Given the description of an element on the screen output the (x, y) to click on. 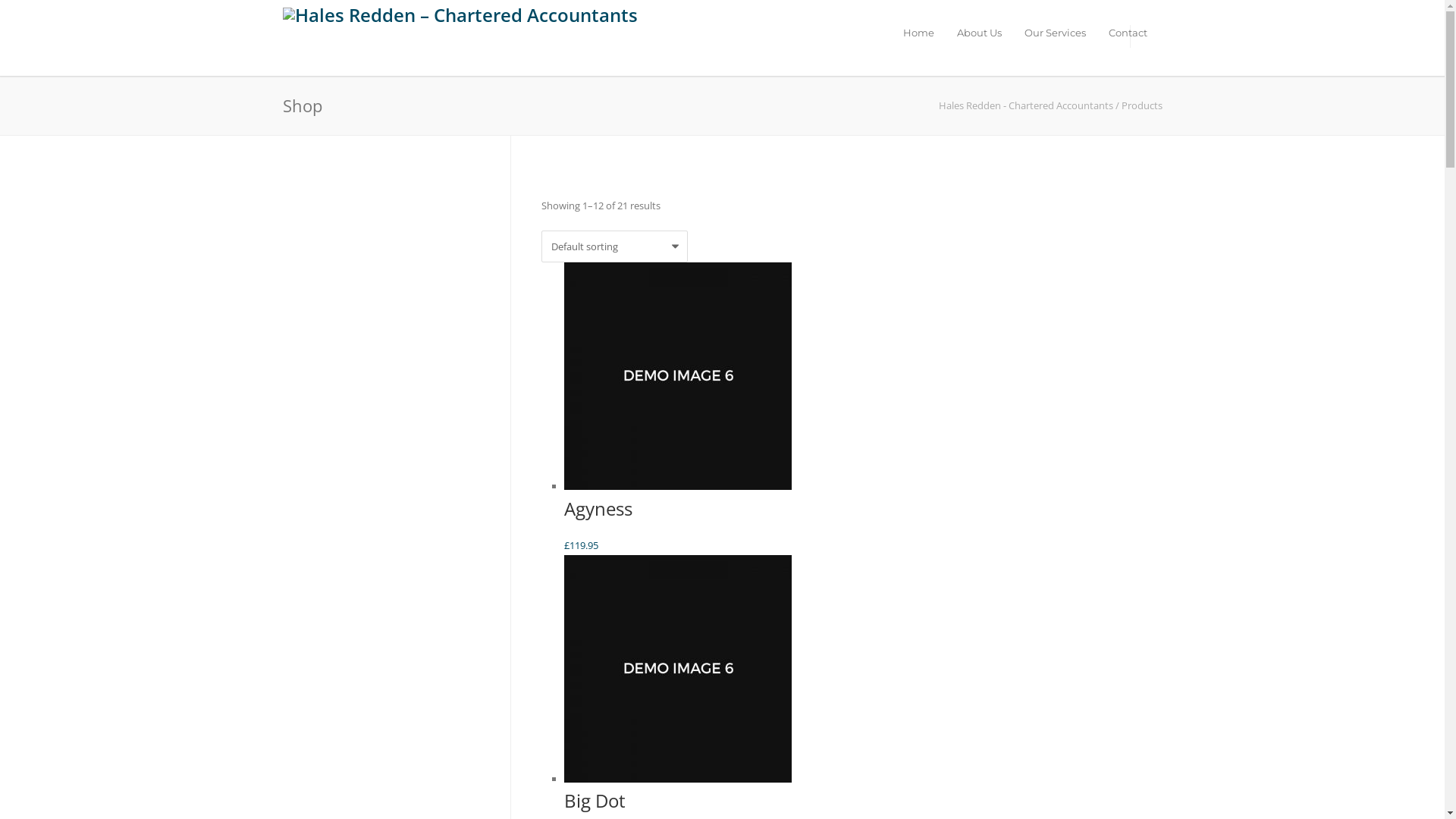
Home Element type: text (918, 32)
About Us Element type: text (978, 32)
Our Services Element type: text (1055, 32)
Hales Redden - Chartered Accountants Element type: text (1025, 105)
Contact Element type: text (1126, 32)
